Given the description of an element on the screen output the (x, y) to click on. 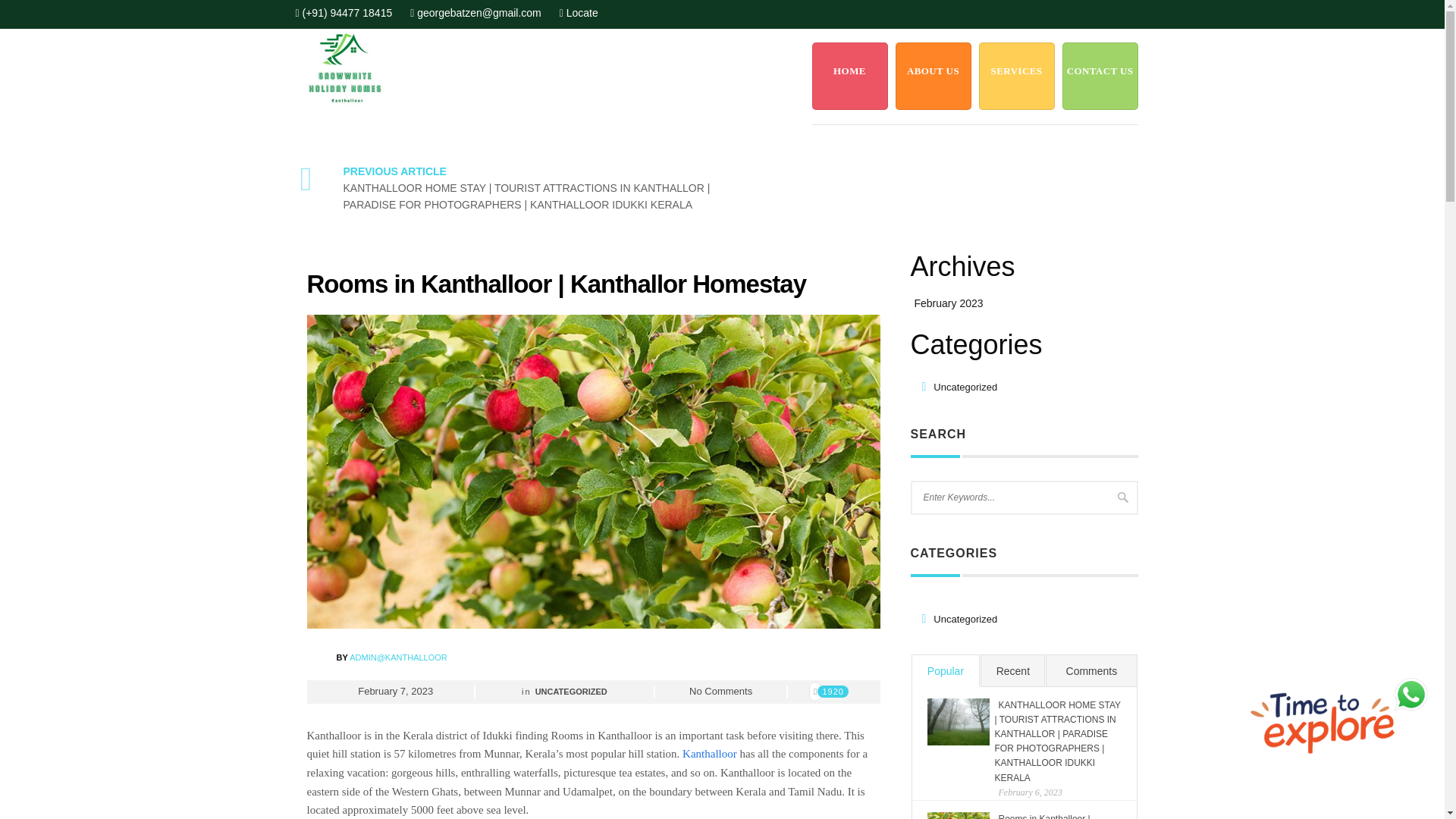
Locate (582, 12)
CONTACT US (1099, 75)
SERVICES (1016, 75)
Kanthalloor (709, 753)
UNCATEGORIZED (571, 691)
ABOUT US (933, 75)
HOME (848, 75)
